Given the description of an element on the screen output the (x, y) to click on. 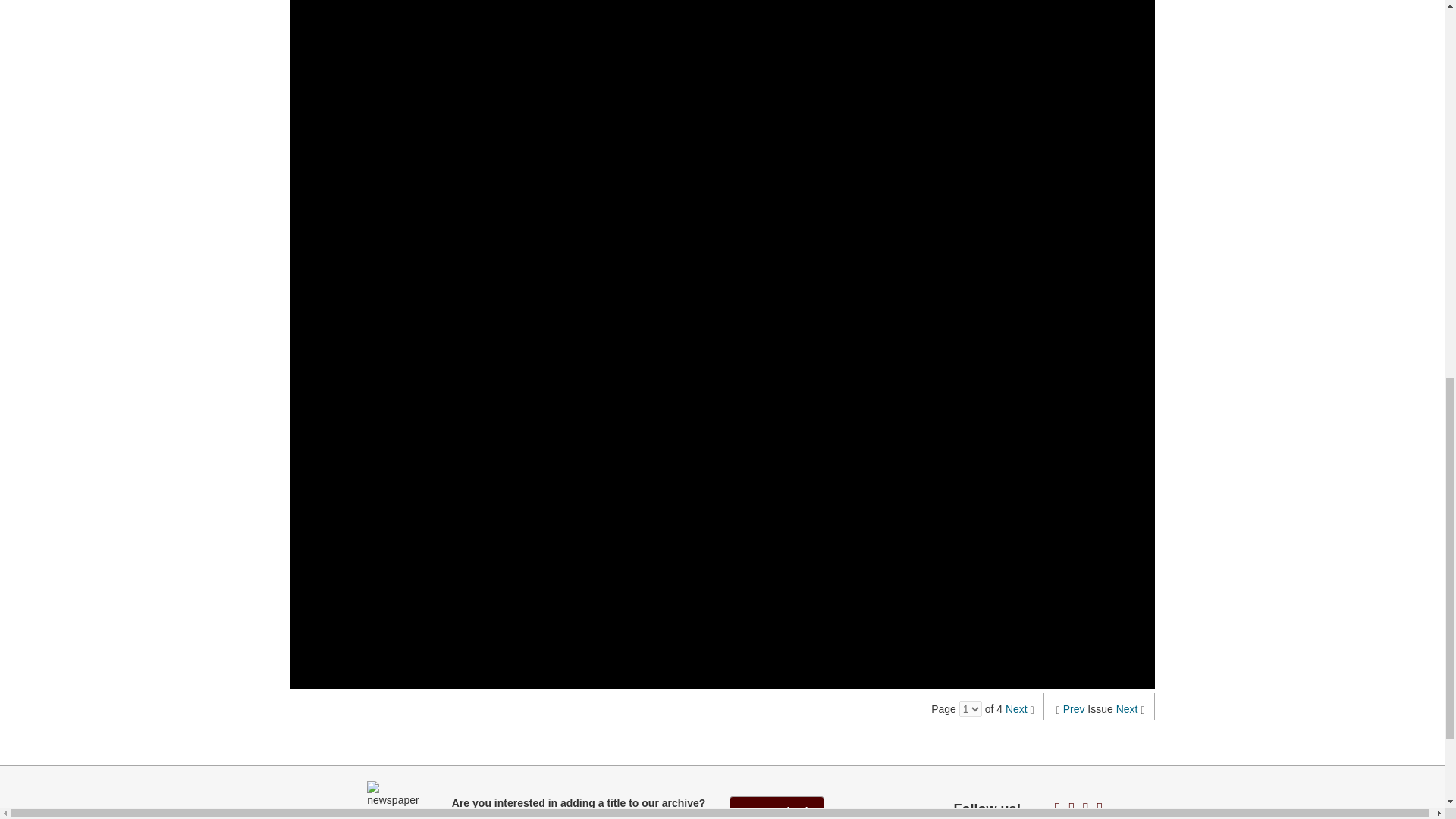
Next (1016, 708)
Next (1127, 708)
Get Involved (776, 807)
Prev (1073, 708)
